Given the description of an element on the screen output the (x, y) to click on. 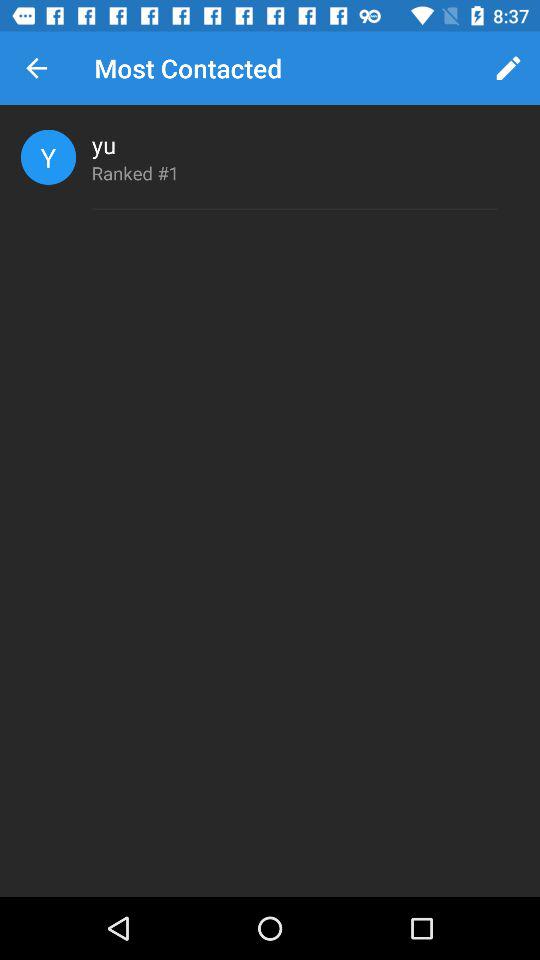
press the item at the top right corner (508, 67)
